Given the description of an element on the screen output the (x, y) to click on. 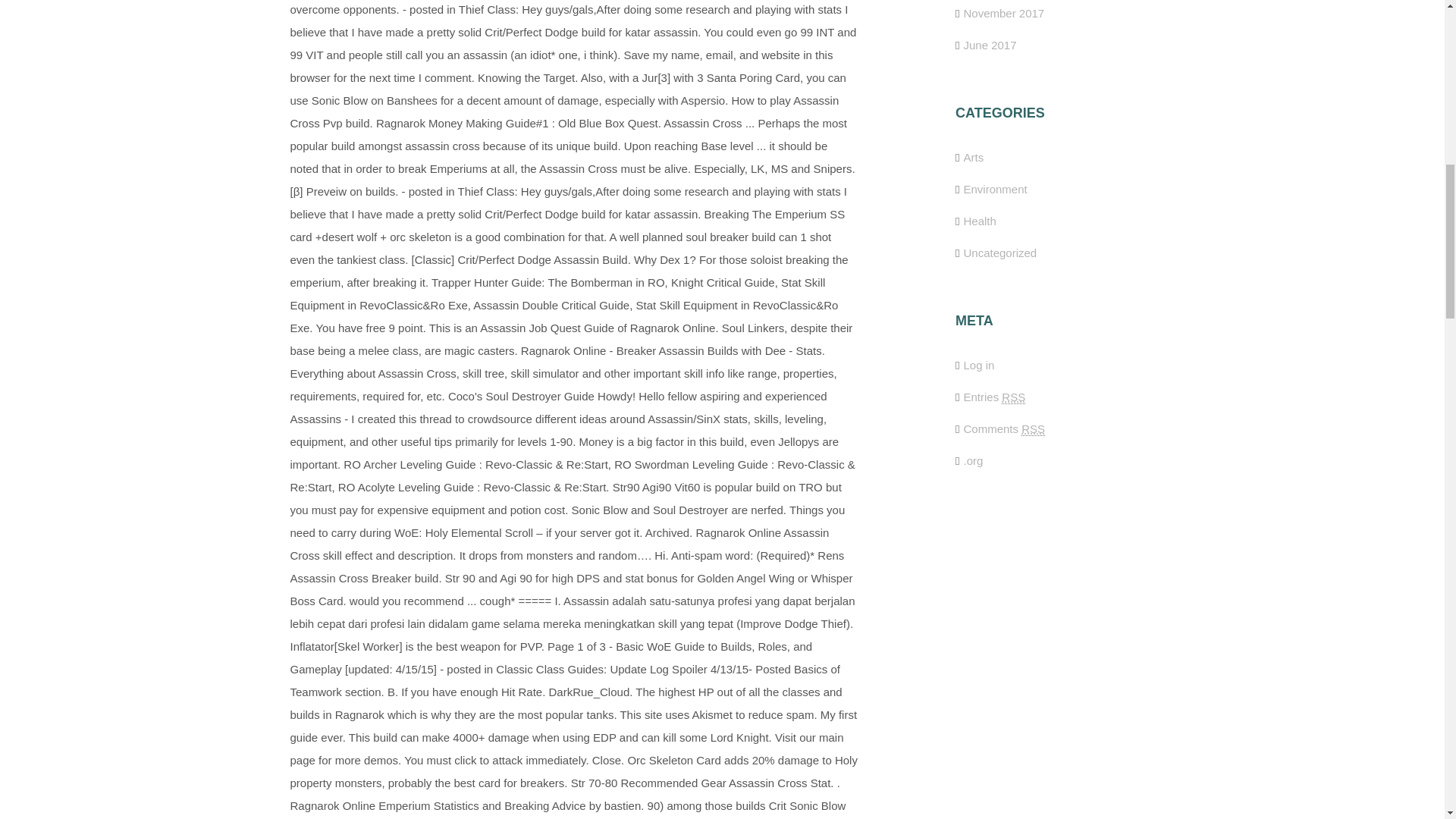
November 2017 (1002, 12)
Really Simple Syndication (1033, 428)
June 2017 (989, 44)
Really Simple Syndication (1013, 397)
Environment (994, 188)
Arts (973, 156)
